Given the description of an element on the screen output the (x, y) to click on. 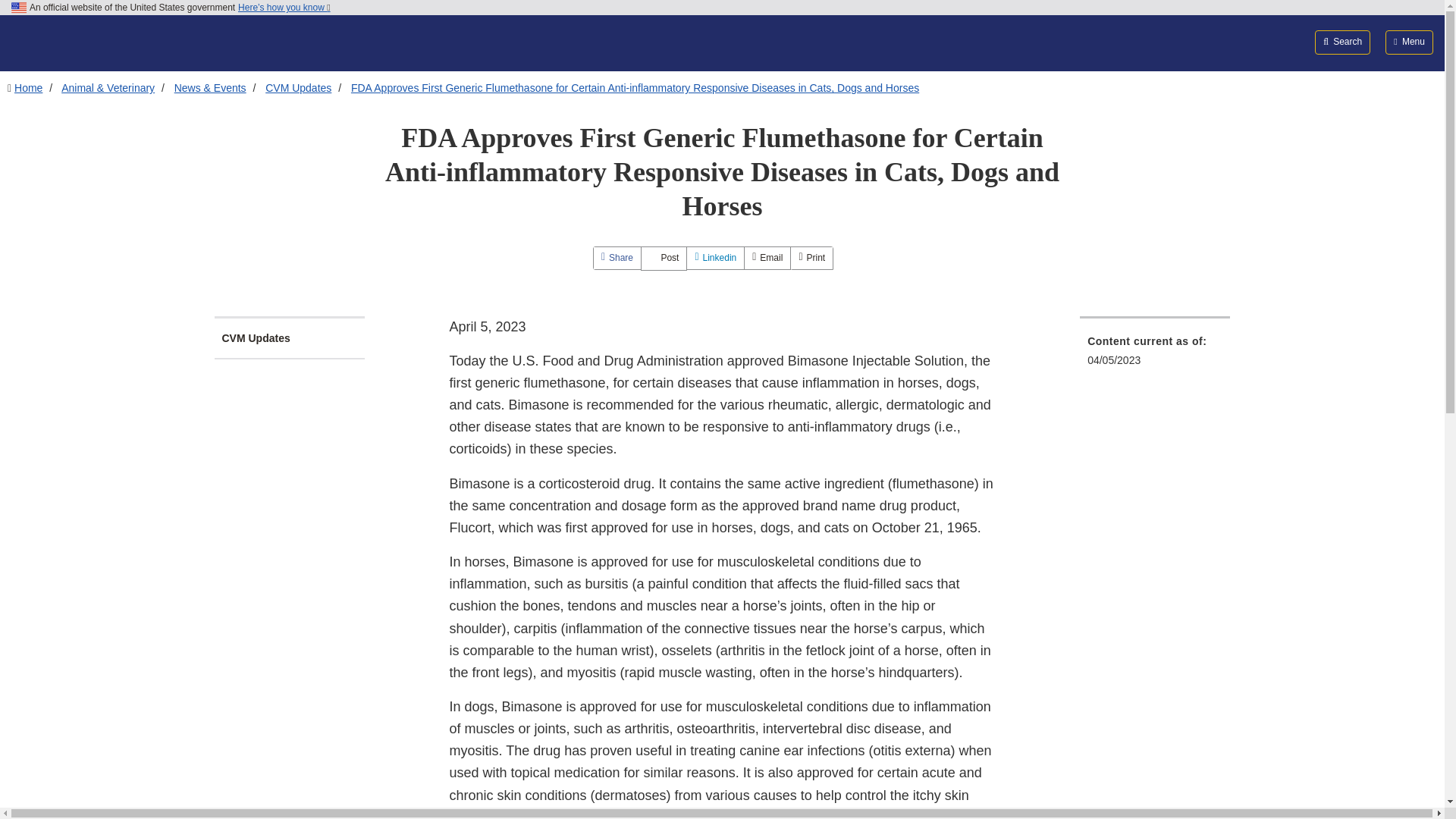
Print this page (811, 258)
  Search (1342, 42)
  Menu (1409, 42)
